Given the description of an element on the screen output the (x, y) to click on. 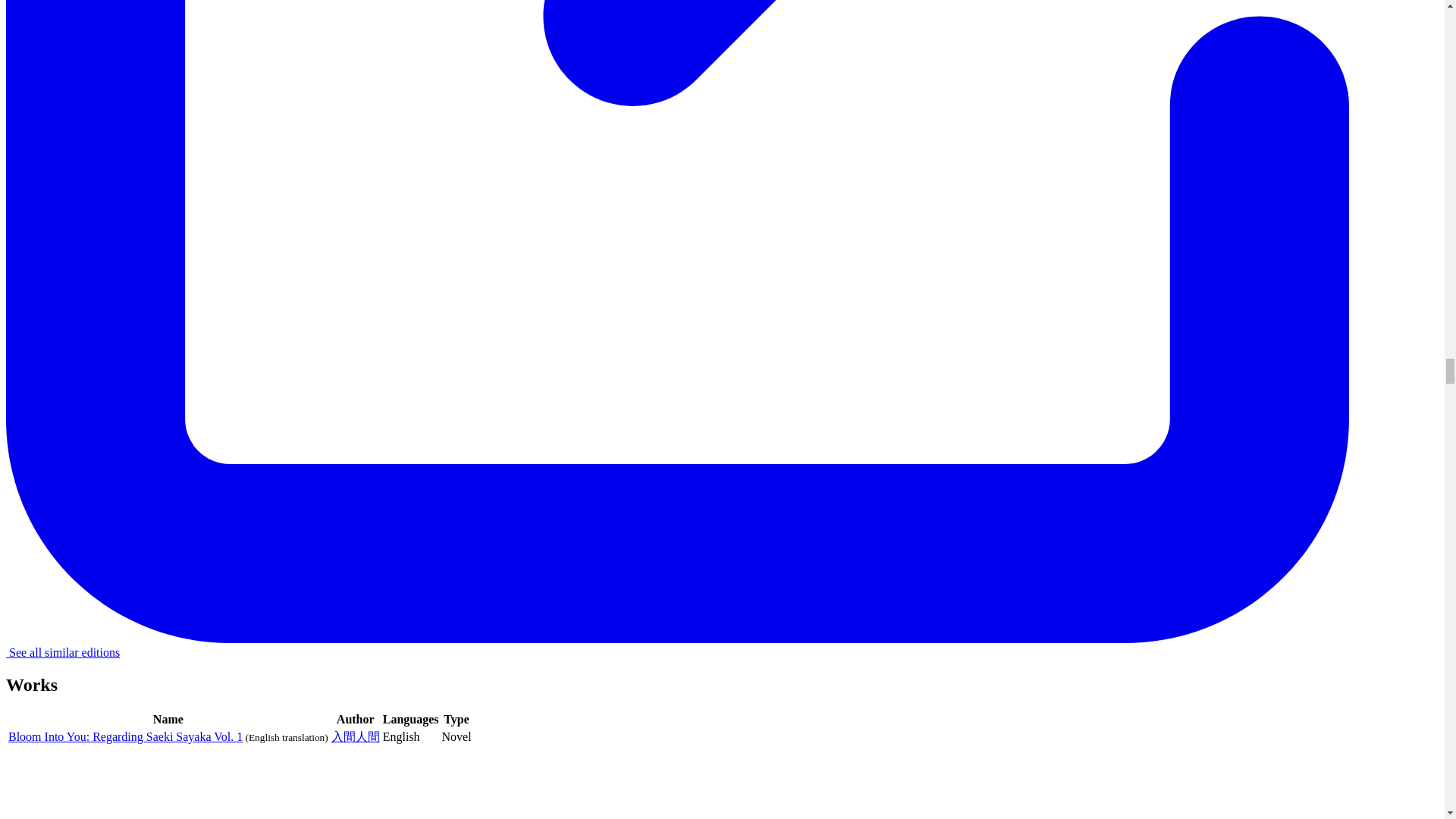
Bloom Into You: Regarding Saeki Sayaka Vol. 1 (125, 736)
